Given the description of an element on the screen output the (x, y) to click on. 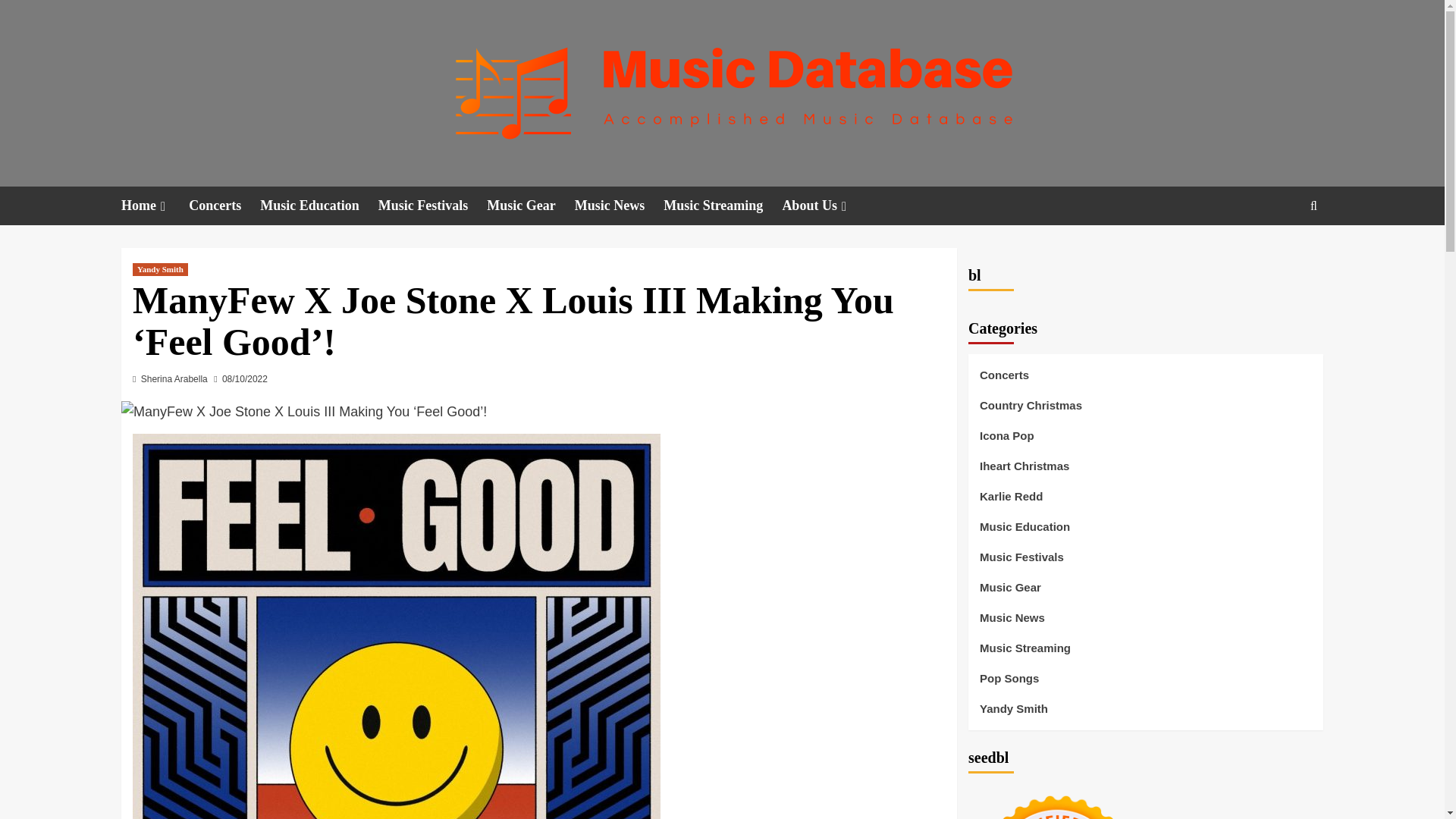
Music Gear (529, 205)
Seedbacklink (1056, 800)
Music Streaming (722, 205)
Music Education (319, 205)
Music Festivals (432, 205)
Sherina Arabella (174, 378)
Home (154, 205)
Yandy Smith (159, 269)
About Us (825, 205)
Concerts (224, 205)
Music News (619, 205)
Search (1278, 252)
